Given the description of an element on the screen output the (x, y) to click on. 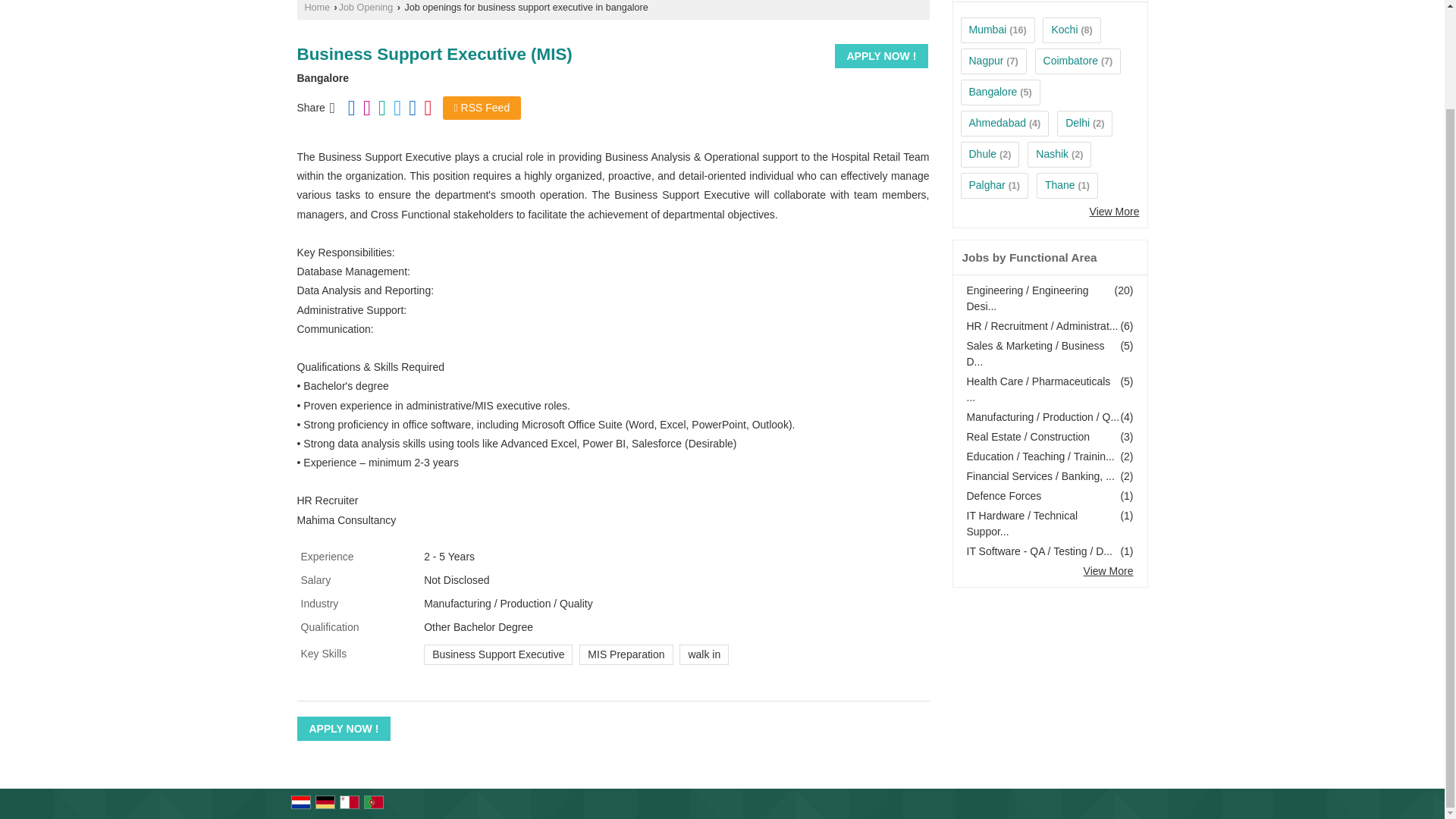
Coimbatore (1070, 60)
Job Opening (366, 7)
Home (317, 7)
APPLY NOW ! (881, 55)
Job Opening (366, 7)
Nagpur (986, 60)
APPLY NOW ! (344, 728)
Ahmedabad (997, 122)
APPLY NOW ! (881, 55)
RSS Feed (481, 107)
